Given the description of an element on the screen output the (x, y) to click on. 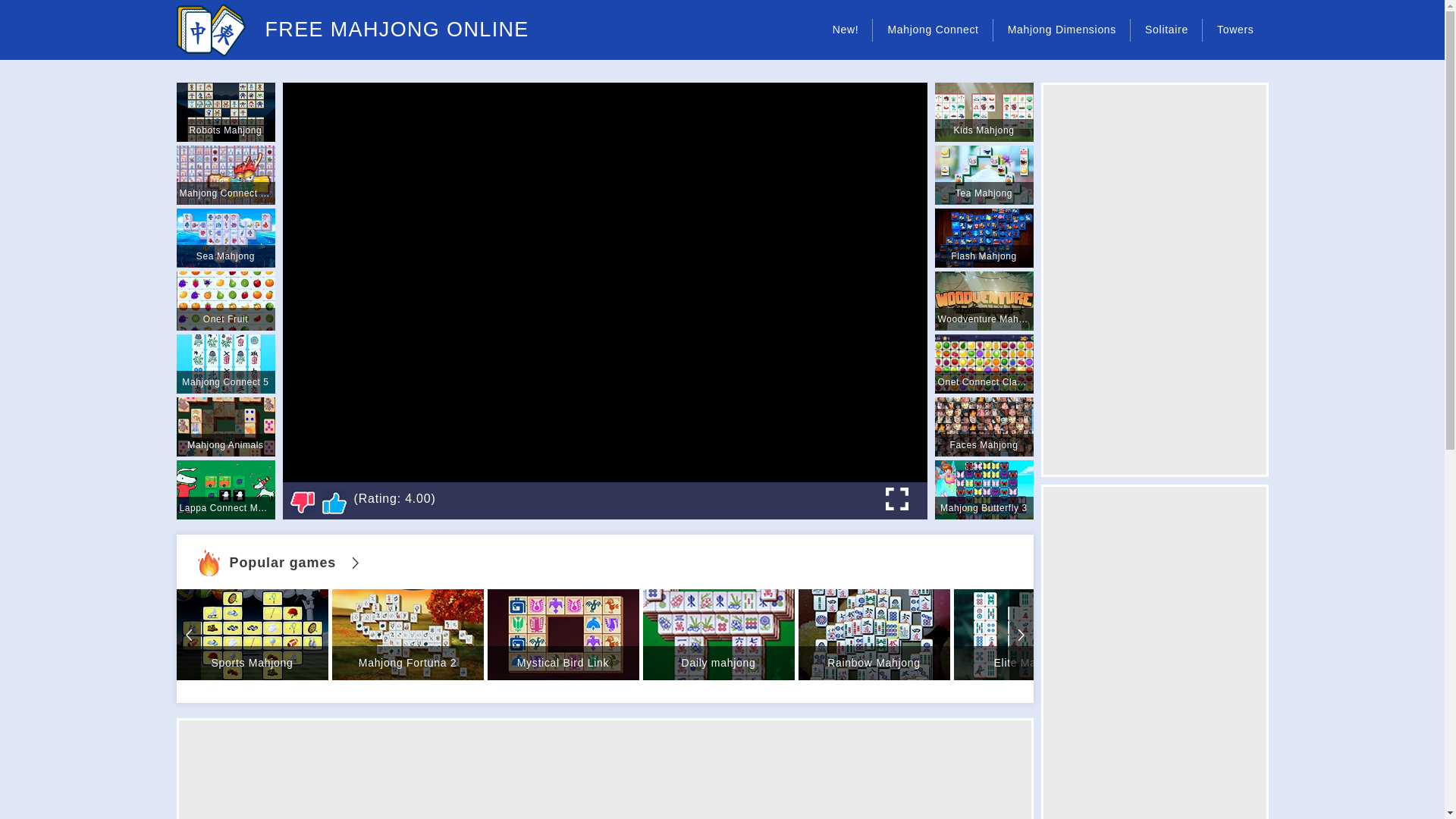
Onet Connect Classic (983, 363)
Mahjong Dimensions (1061, 29)
Mahjong Fortuna 2 (407, 634)
Sea Mahjong (225, 237)
Advertisement (1157, 374)
Mahjong Connect 5 (225, 363)
Tea Mahjong (983, 174)
Mahjong Animals (225, 426)
Faces Mahjong (983, 426)
Robots Mahjong (225, 111)
Popular games (277, 562)
Kids Mahjong (983, 111)
Daily mahjong (718, 634)
Towers (1235, 29)
FREE MAHJONG ONLINE (352, 30)
